Given the description of an element on the screen output the (x, y) to click on. 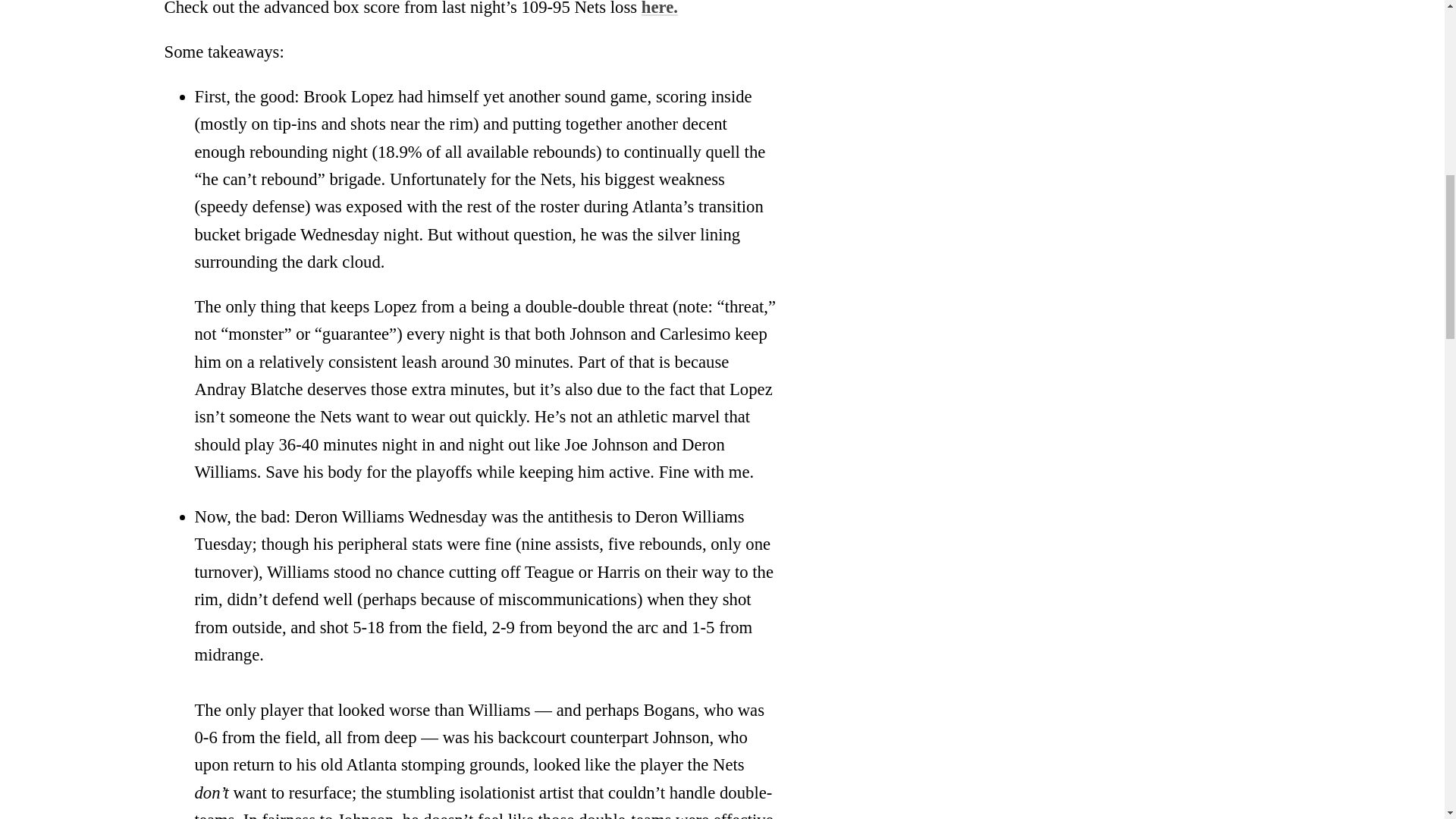
3rd party ad content (1234, 212)
3rd party ad content (1234, 40)
